Given the description of an element on the screen output the (x, y) to click on. 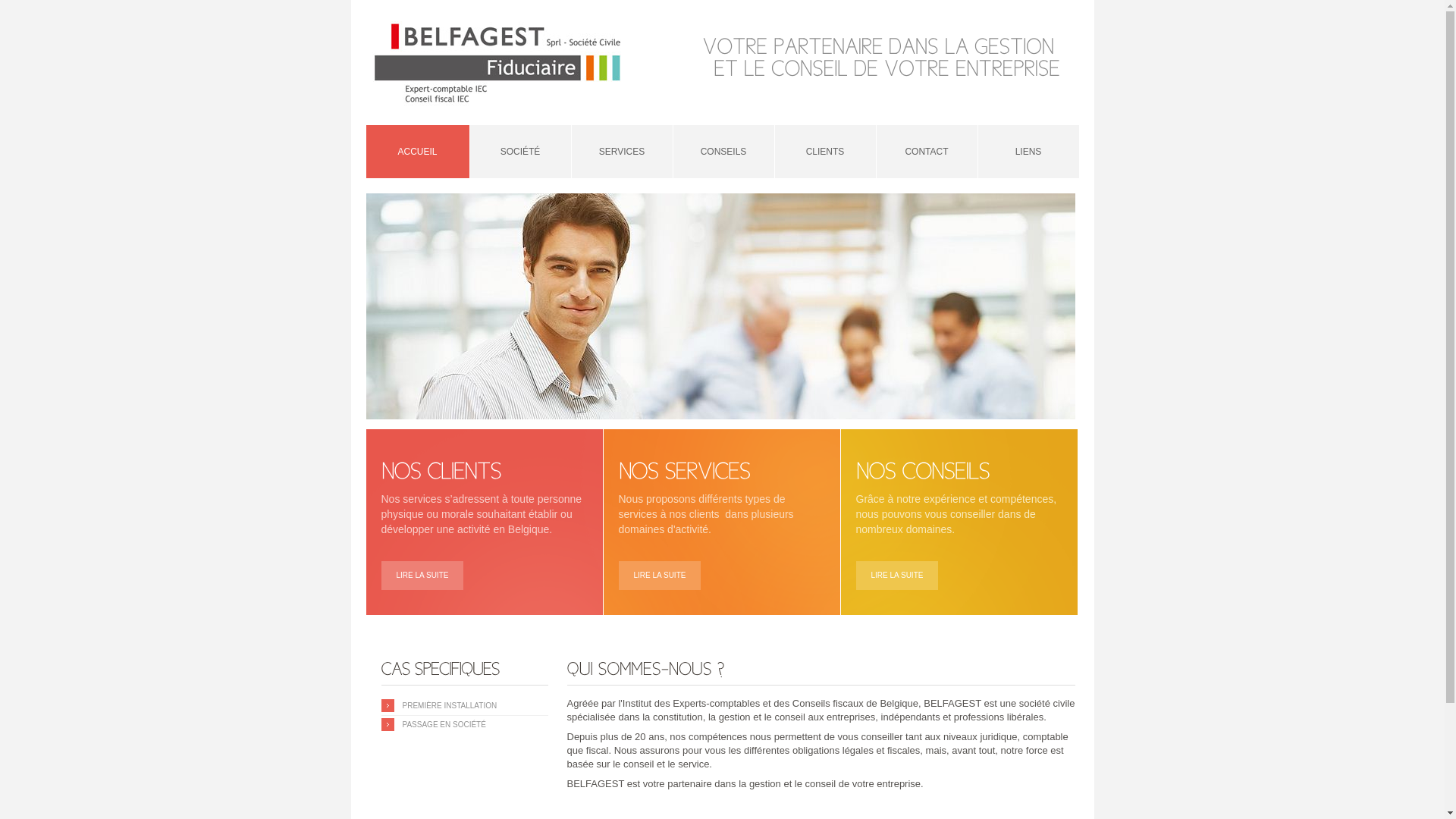
CLIENTS Element type: text (825, 151)
LIRE LA SUITE Element type: text (896, 575)
LIRE LA SUITE Element type: text (659, 575)
LIENS Element type: text (1028, 151)
SERVICES Element type: text (621, 151)
Belfagest Element type: hover (498, 62)
ACCUEIL Element type: text (416, 151)
LIRE LA SUITE Element type: text (421, 575)
CONSEILS Element type: text (723, 151)
CONTACT Element type: text (926, 151)
